Given the description of an element on the screen output the (x, y) to click on. 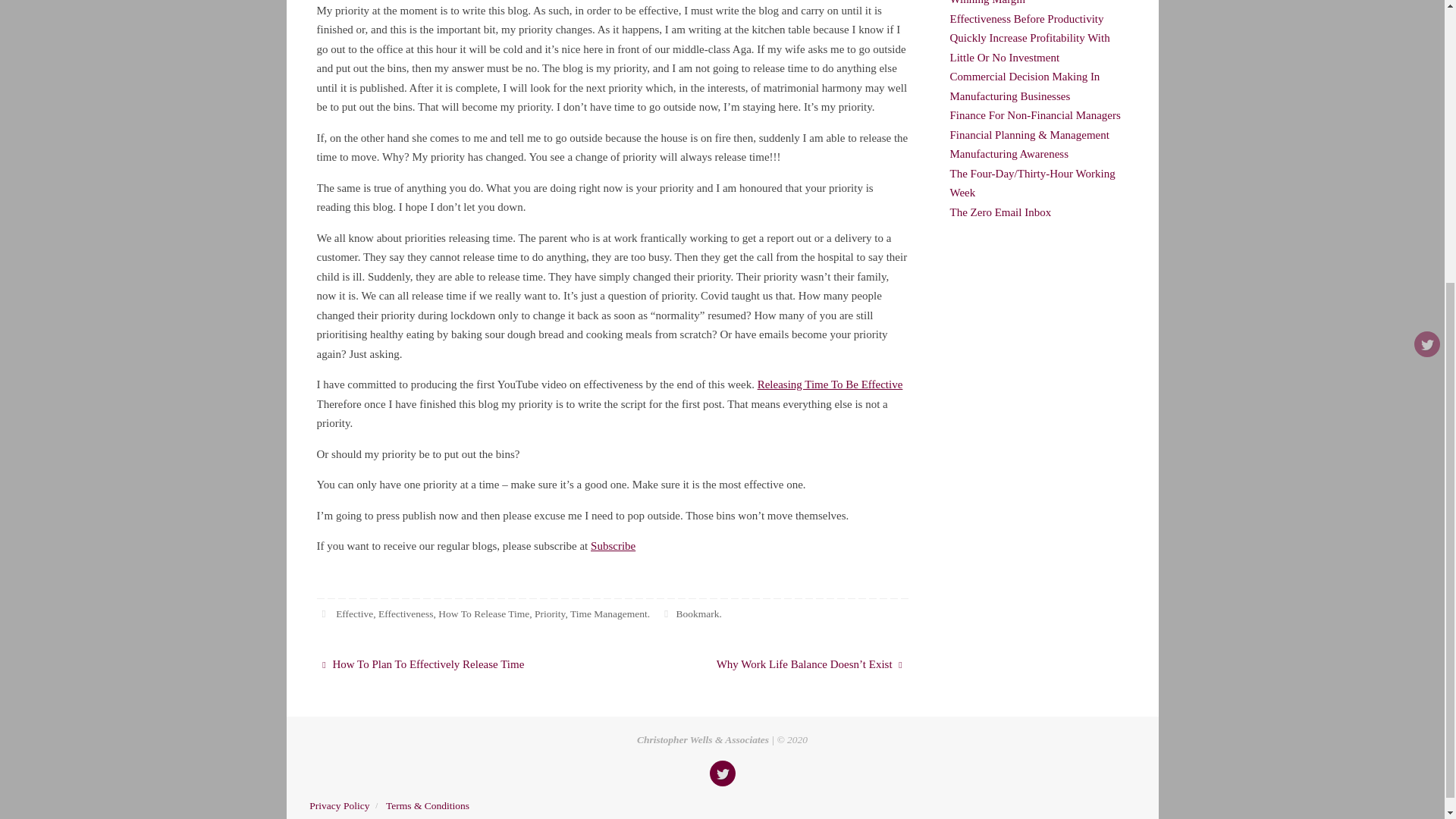
Releasing Time To Be Effective (829, 384)
Permalink to A Change Of Priority Will Always Release Time (697, 613)
Twitter (722, 773)
 Bookmark the permalink (665, 613)
Tagged (324, 613)
Subscribe (612, 545)
